Given the description of an element on the screen output the (x, y) to click on. 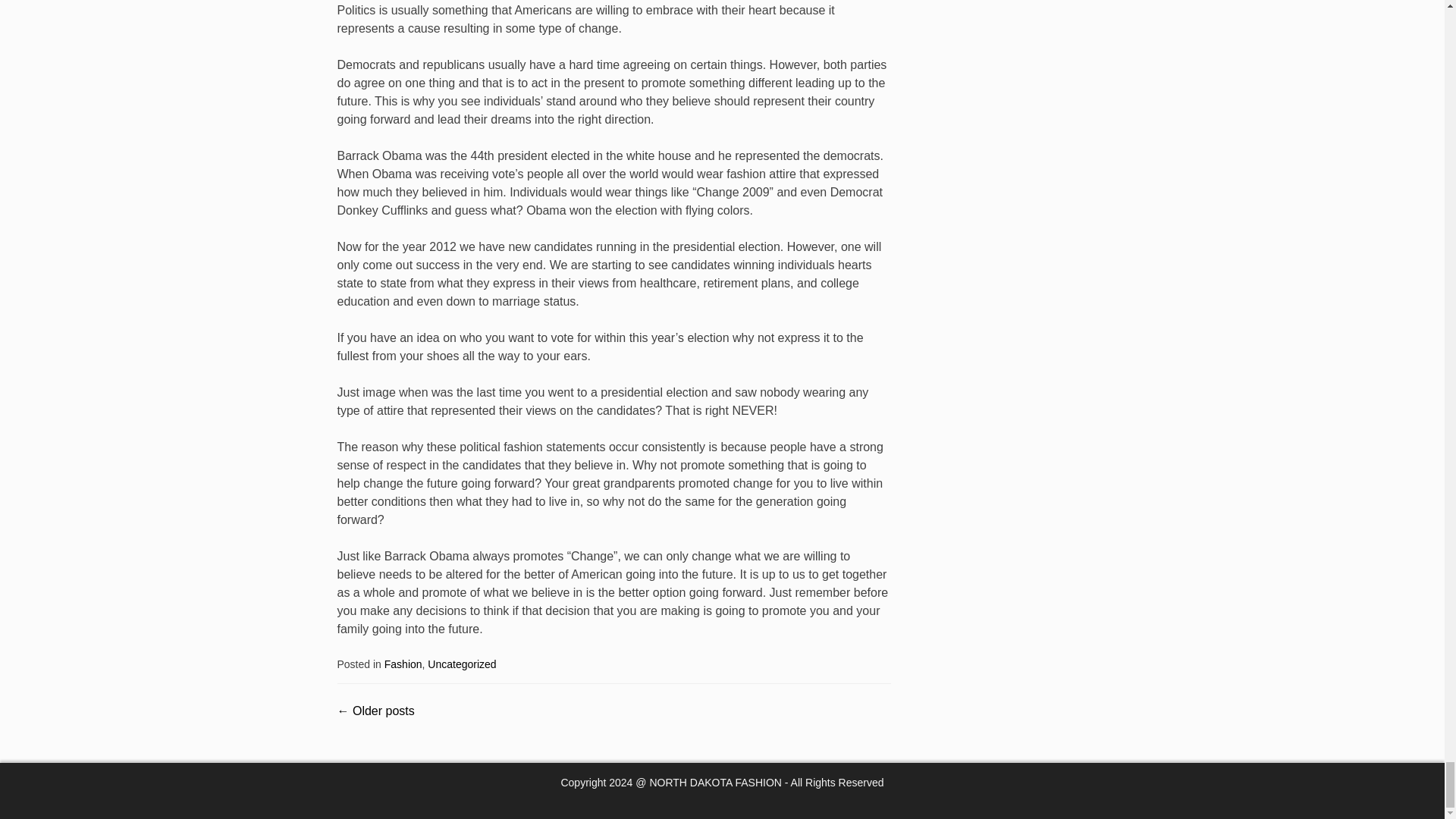
NORTH DAKOTA FASHION (715, 782)
